Given the description of an element on the screen output the (x, y) to click on. 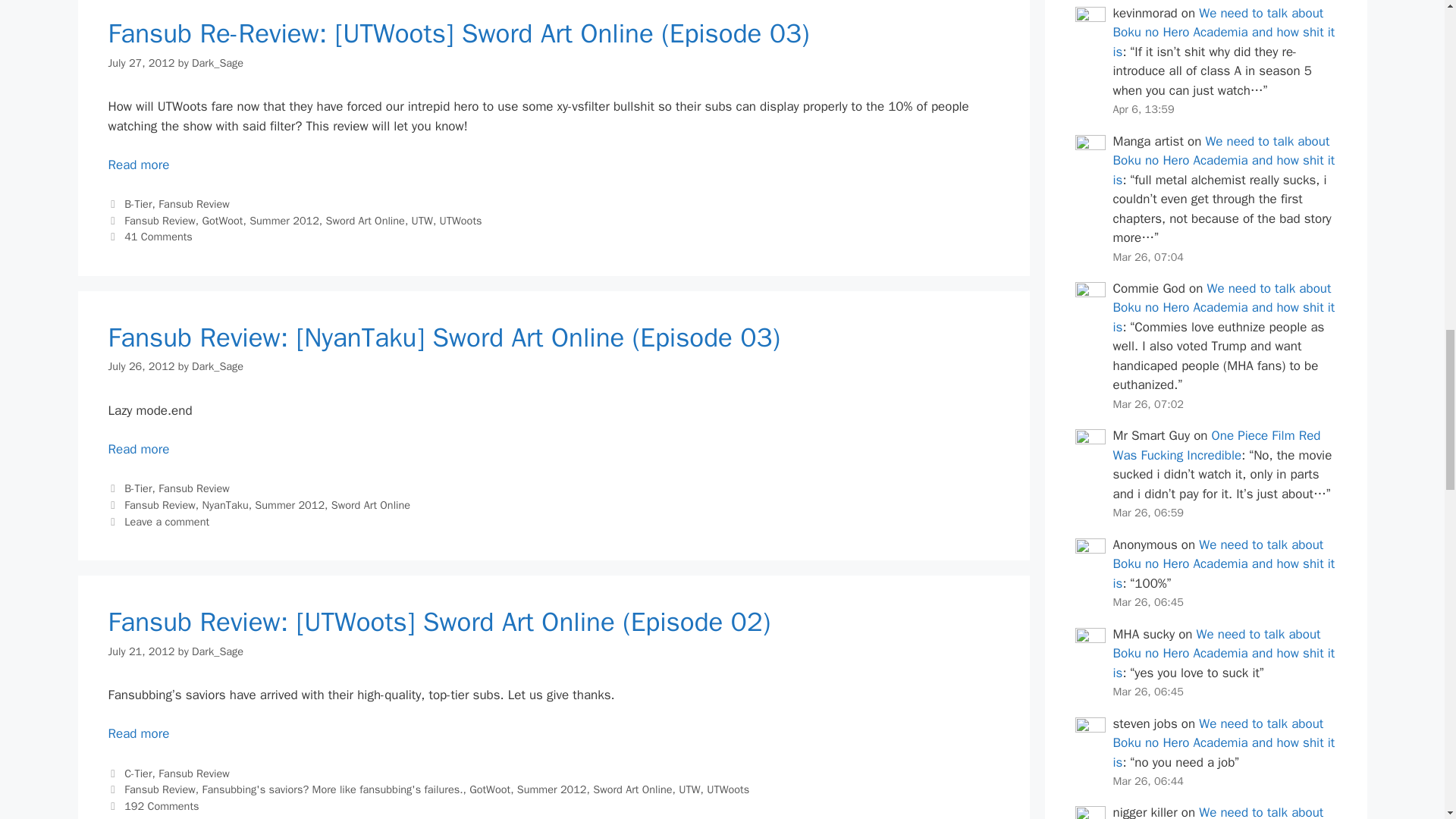
B-Tier (137, 203)
Fansub Review (159, 220)
Read more (137, 164)
GotWoot (222, 220)
Fansub Review (194, 203)
